Given the description of an element on the screen output the (x, y) to click on. 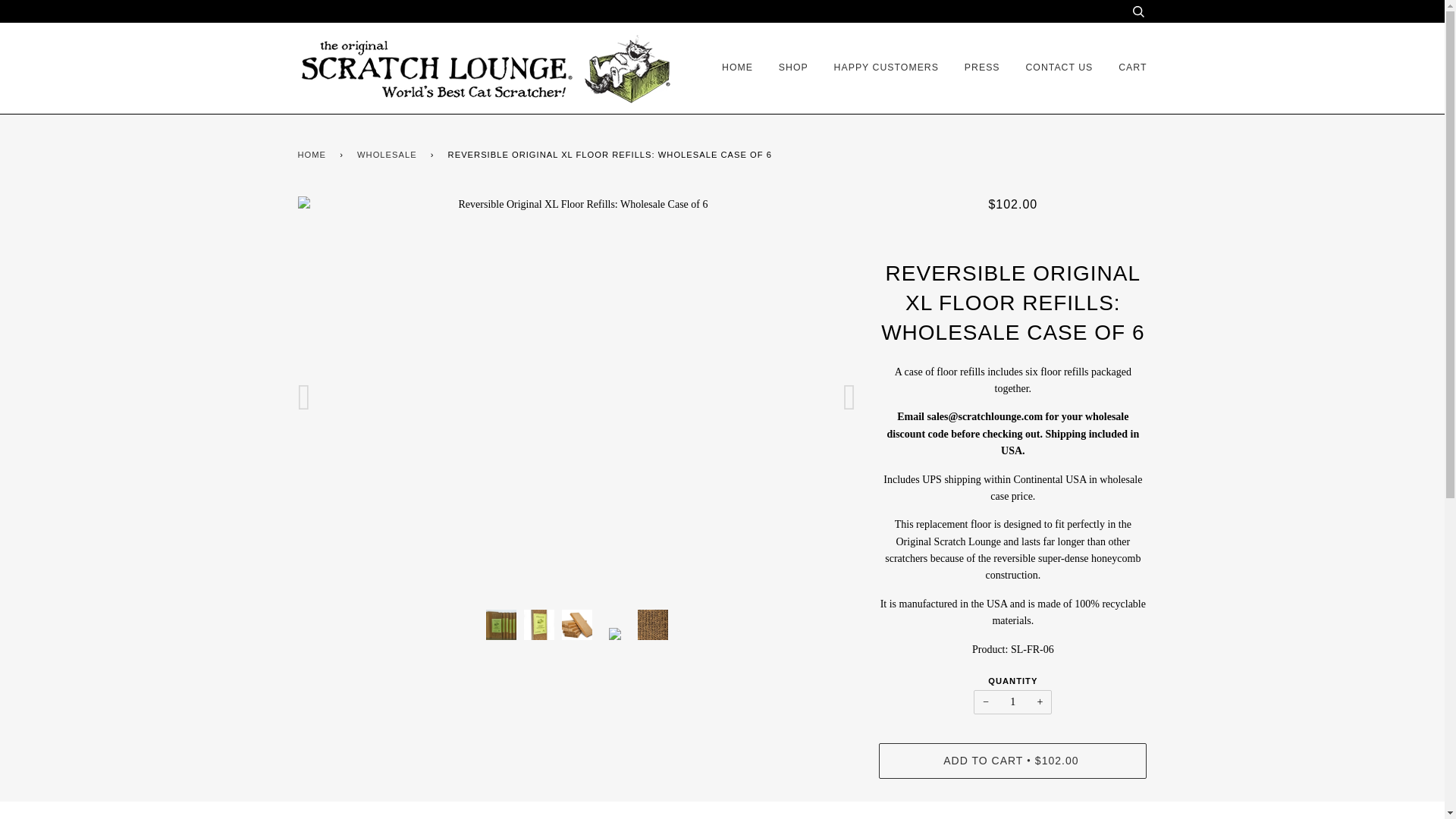
HOME (314, 155)
Back to the frontpage (314, 155)
WHOLESALE (389, 155)
HAPPY CUSTOMERS (886, 67)
1 (1012, 702)
